Given the description of an element on the screen output the (x, y) to click on. 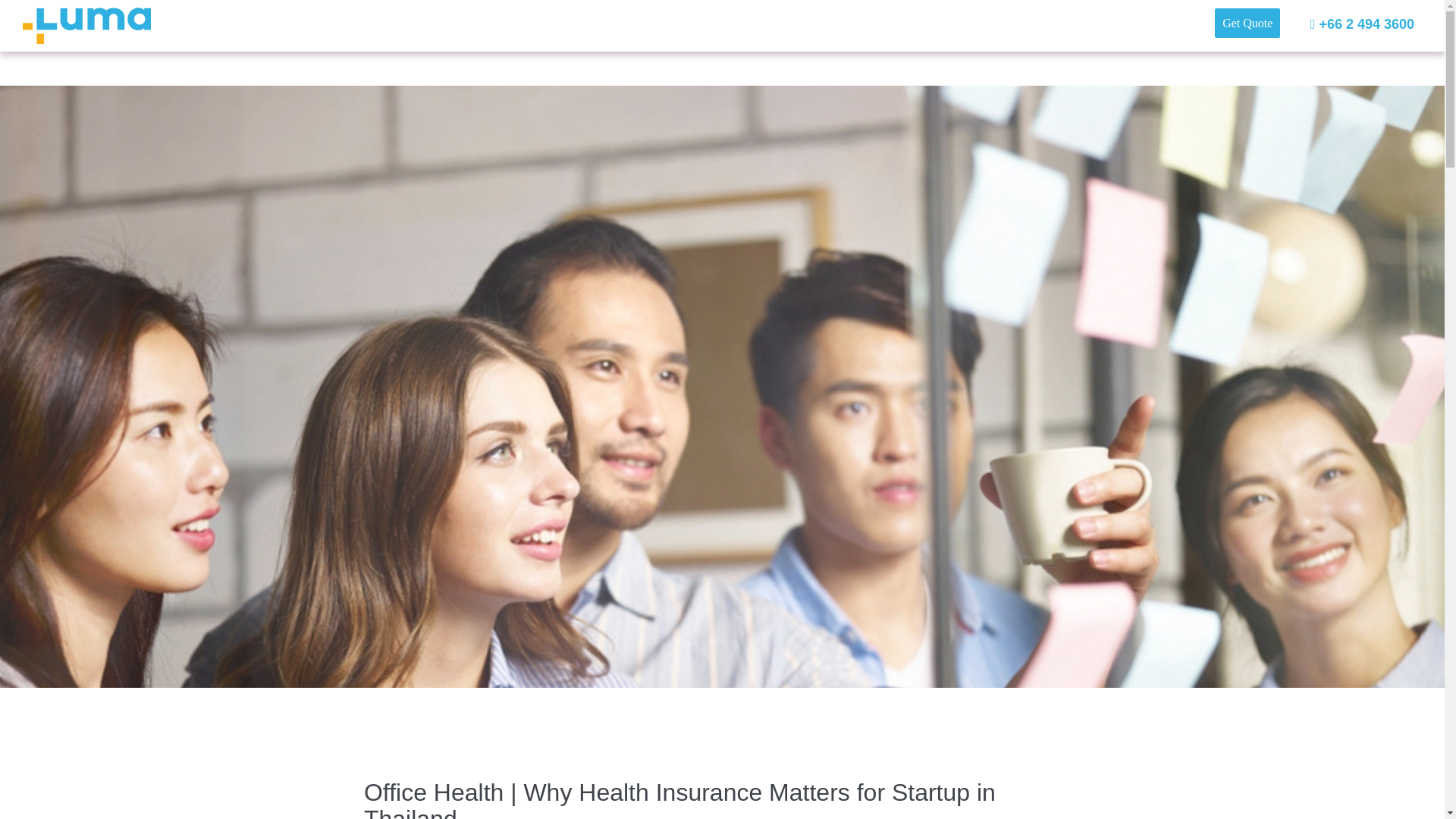
Lumahealth (87, 25)
Get Quote (1246, 21)
